Given the description of an element on the screen output the (x, y) to click on. 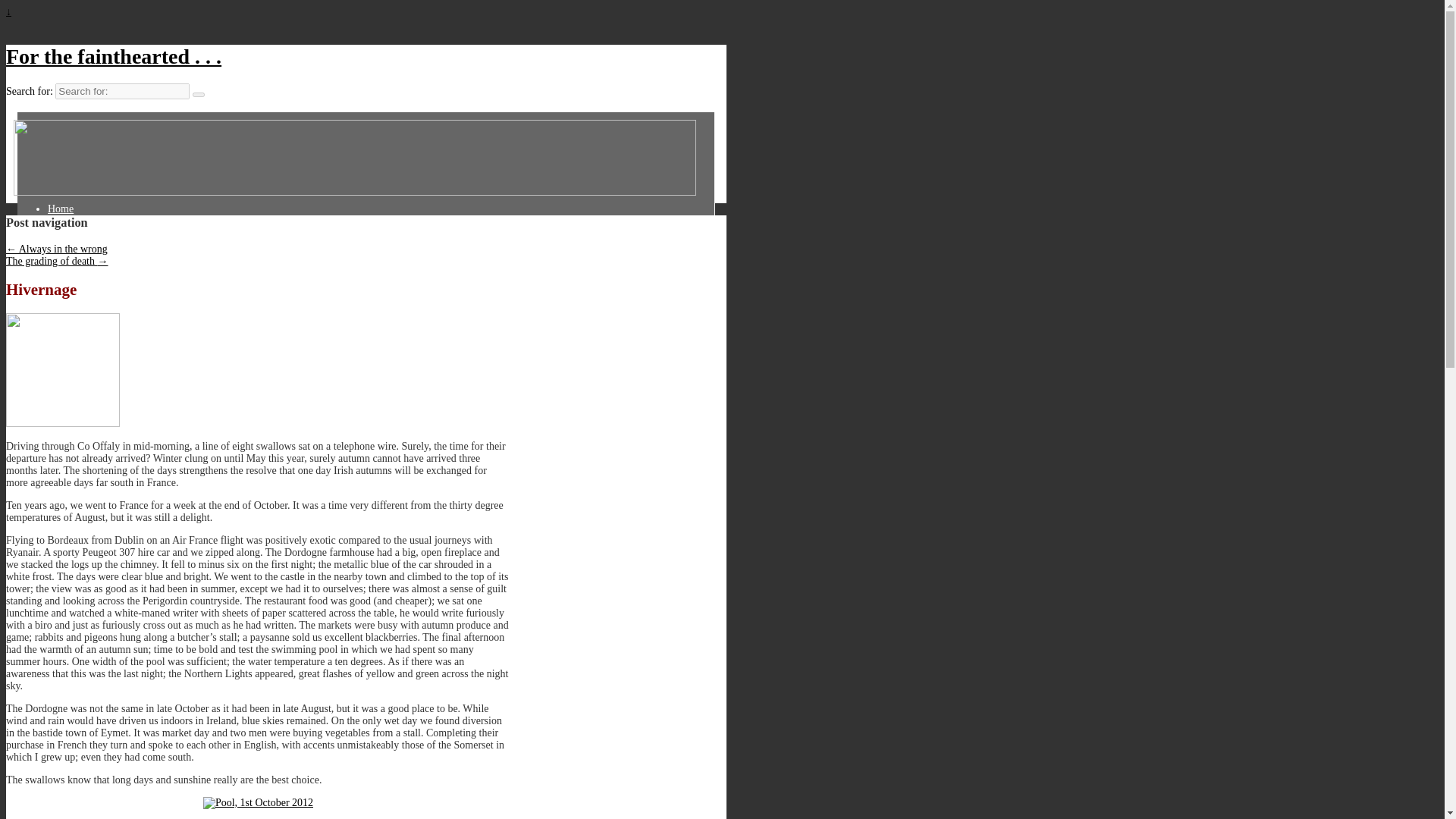
Home (70, 209)
Comments Policy (94, 220)
Ian Poulton (81, 232)
This blog . . . (85, 245)
For the fainthearted . . . (113, 56)
For the fainthearted . . . (113, 56)
Home (70, 209)
